Given the description of an element on the screen output the (x, y) to click on. 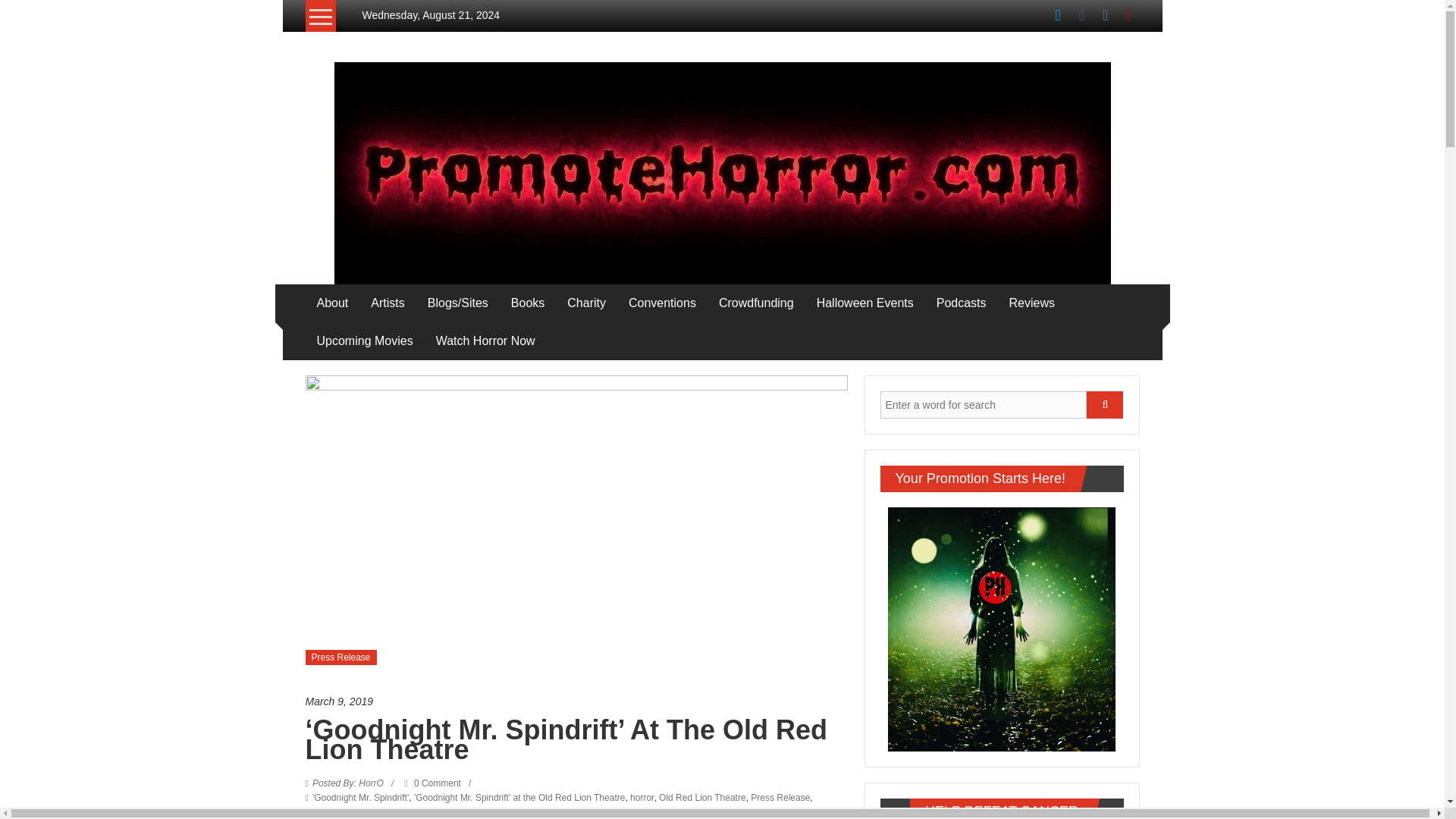
March 9, 2019 (575, 701)
11:00 am (575, 701)
0 Comment (432, 783)
Watch Horror Now (485, 341)
Crowdfunding (756, 303)
Posted By: HorrO (348, 783)
Halloween Events (865, 303)
Press Release (339, 657)
Reviews (1031, 303)
